Given the description of an element on the screen output the (x, y) to click on. 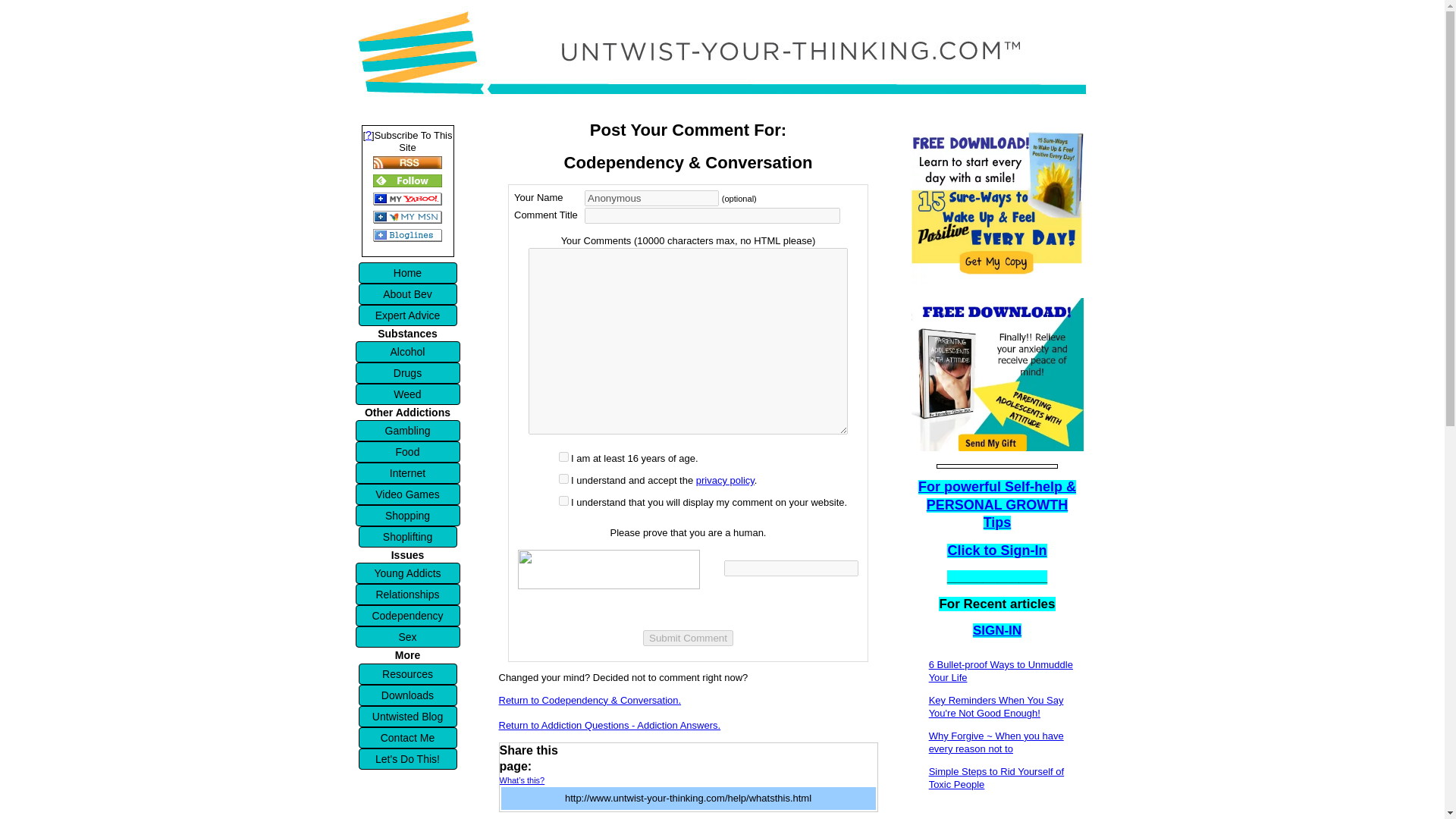
Key Reminders When You Say You're Not Good Enough! (996, 706)
Submit Comment (688, 637)
Relationships (407, 594)
Sex (407, 636)
Young Addicts (407, 572)
Shoplifting (407, 536)
Codependency (407, 615)
Drugs (407, 373)
About Bev (407, 293)
Internet (407, 473)
Weed (407, 394)
Alcohol (407, 351)
Submit Comment (688, 637)
Shopping (407, 515)
privacy policy (724, 480)
